Given the description of an element on the screen output the (x, y) to click on. 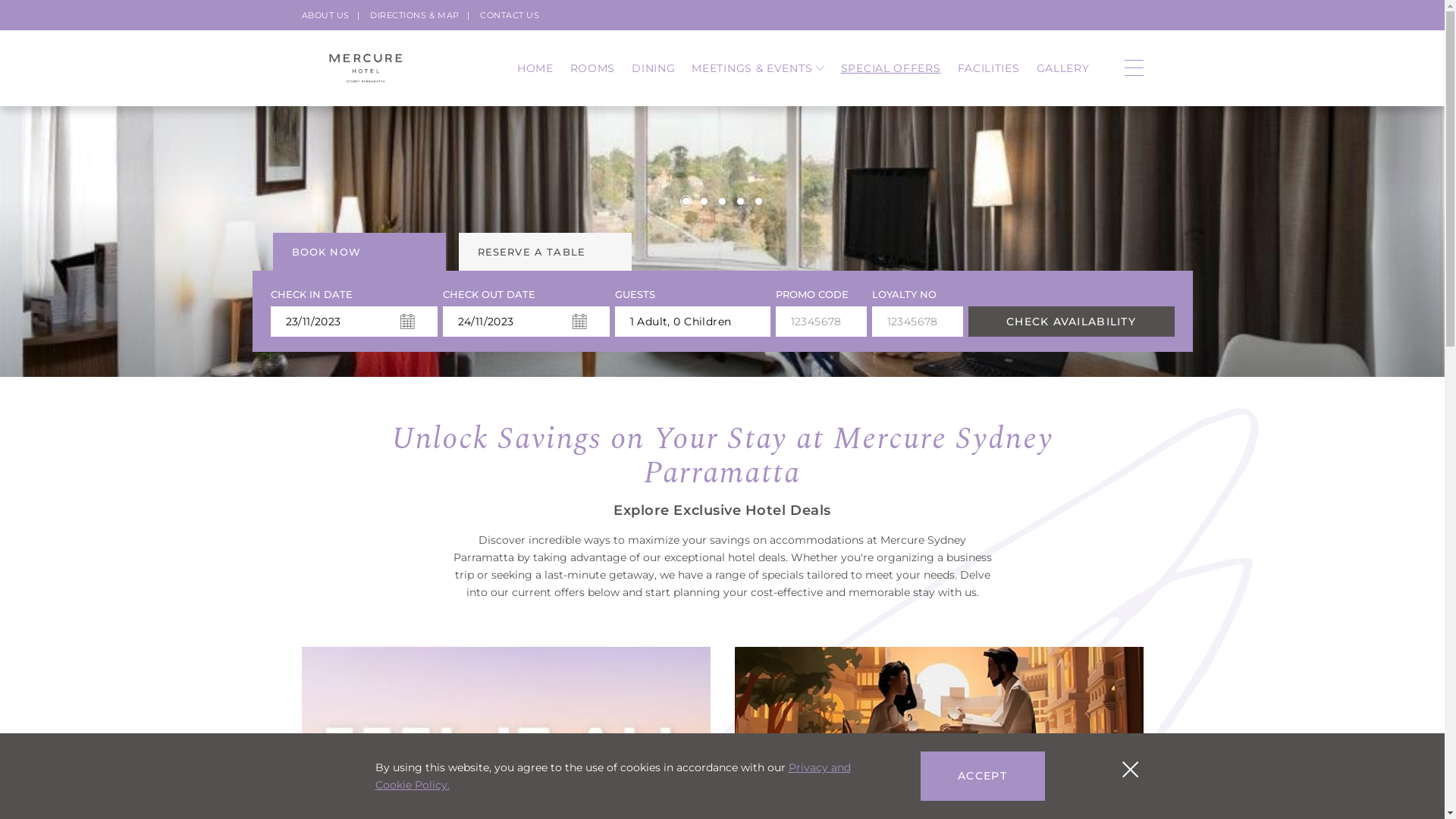
Privacy and Cookie Policy. Element type: text (612, 775)
CONTACT US Element type: text (509, 14)
CHECK AVAILABILITY Element type: text (1070, 321)
ABOUT US Element type: text (325, 14)
BOOK NOW Element type: text (359, 251)
SPECIAL OFFERS Element type: text (890, 68)
MEETINGS & EVENTS Element type: text (757, 68)
DIRECTIONS & MAP Element type: text (414, 14)
1 Adult, 0 Children Element type: text (691, 321)
ROOMS Element type: text (592, 68)
GALLERY Element type: text (1062, 68)
RESERVE A TABLE Element type: text (544, 251)
FACILITIES Element type: text (988, 68)
DINING Element type: text (652, 68)
ACCEPT Element type: text (982, 775)
HOME Element type: text (535, 68)
